Given the description of an element on the screen output the (x, y) to click on. 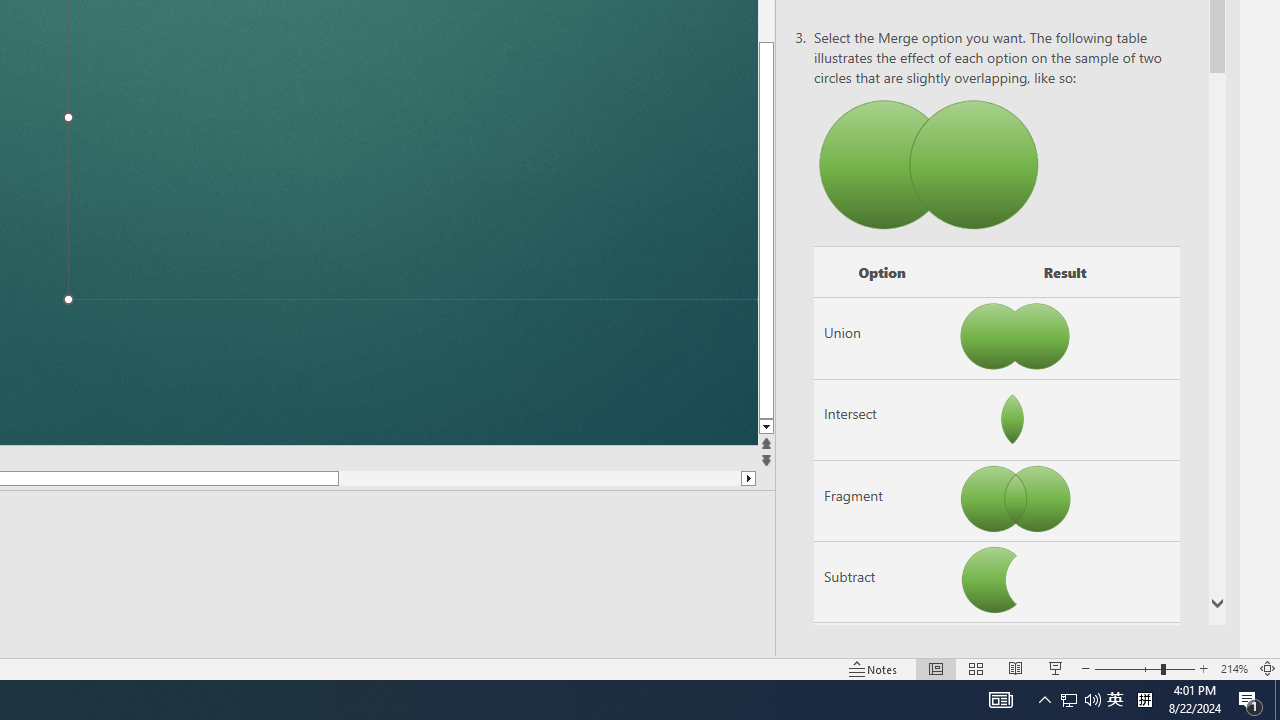
Fragment (881, 501)
Combine (881, 663)
Zoom 214% (1234, 668)
